Given the description of an element on the screen output the (x, y) to click on. 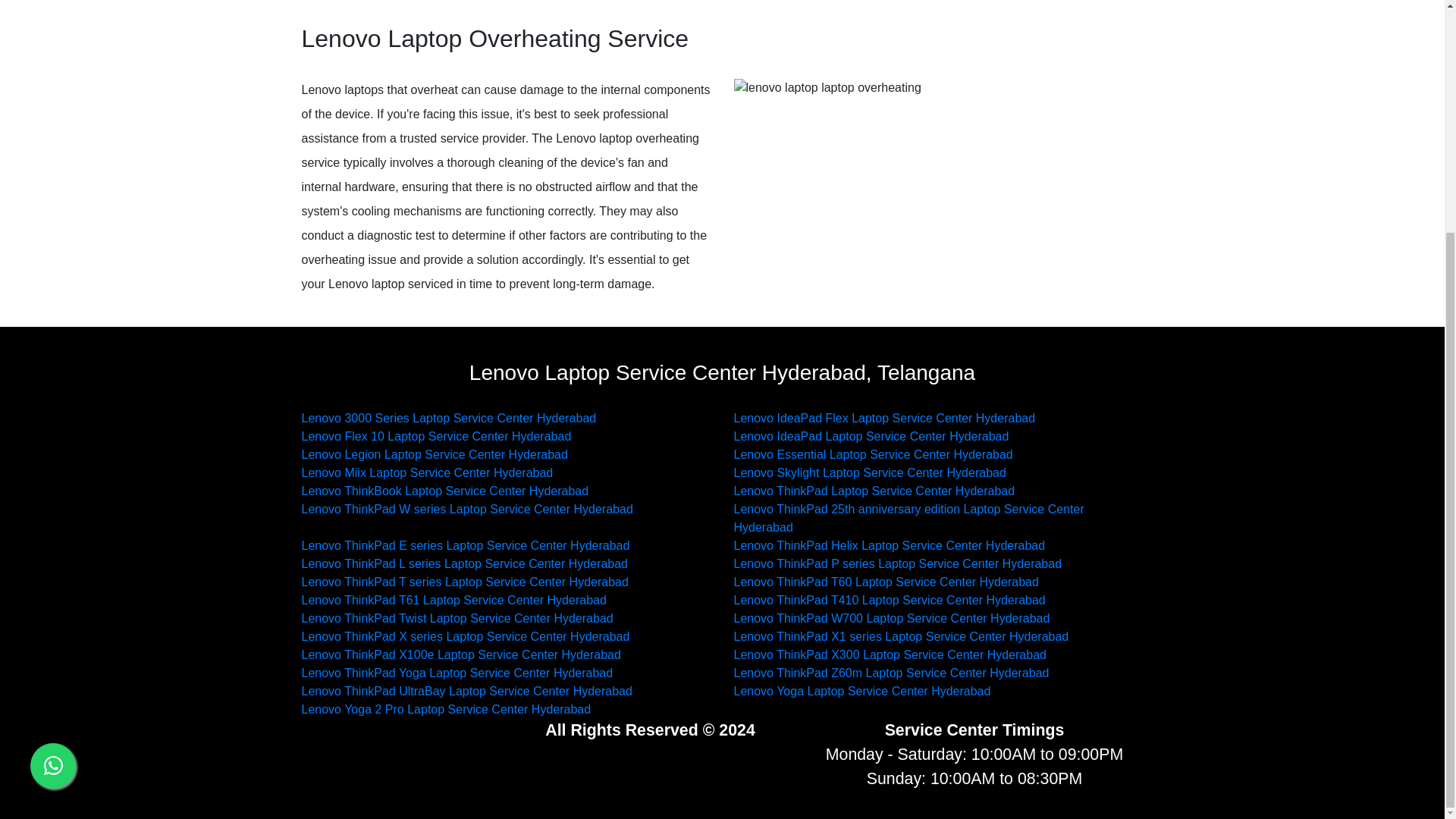
Lenovo ThinkPad Laptop Service Center Hyderabad (873, 490)
Lenovo Miix Laptop Service Center Hyderabad (427, 472)
Lenovo Essential Laptop Service Center Hyderabad (873, 454)
Lenovo ThinkPad E series Laptop Service Center Hyderabad (465, 545)
Lenovo ThinkPad Helix Laptop Service Center Hyderabad (889, 545)
Lenovo ThinkPad T60 Laptop Service Center Hyderabad (886, 581)
Lenovo ThinkPad Twist Laptop Service Center Hyderabad (456, 617)
Lenovo ThinkPad W series Laptop Service Center Hyderabad (467, 508)
Lenovo ThinkBook Laptop Service Center Hyderabad (445, 490)
